Given the description of an element on the screen output the (x, y) to click on. 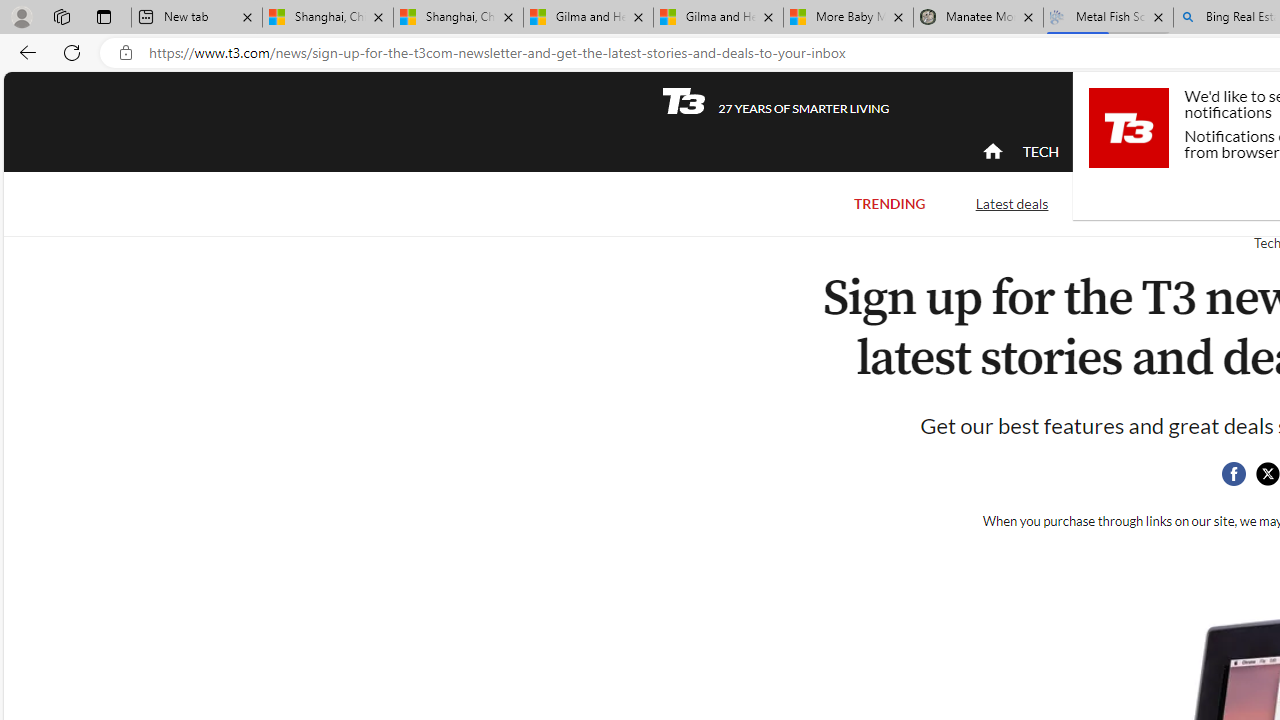
TECH (1040, 151)
Class: navigation__item (990, 151)
TECH (1040, 151)
ACTIVE (1124, 151)
HOME LIVING (1233, 151)
t3.com Logo (1128, 127)
Back to Class 2024 (1178, 204)
HOME LIVING (1233, 151)
